Given the description of an element on the screen output the (x, y) to click on. 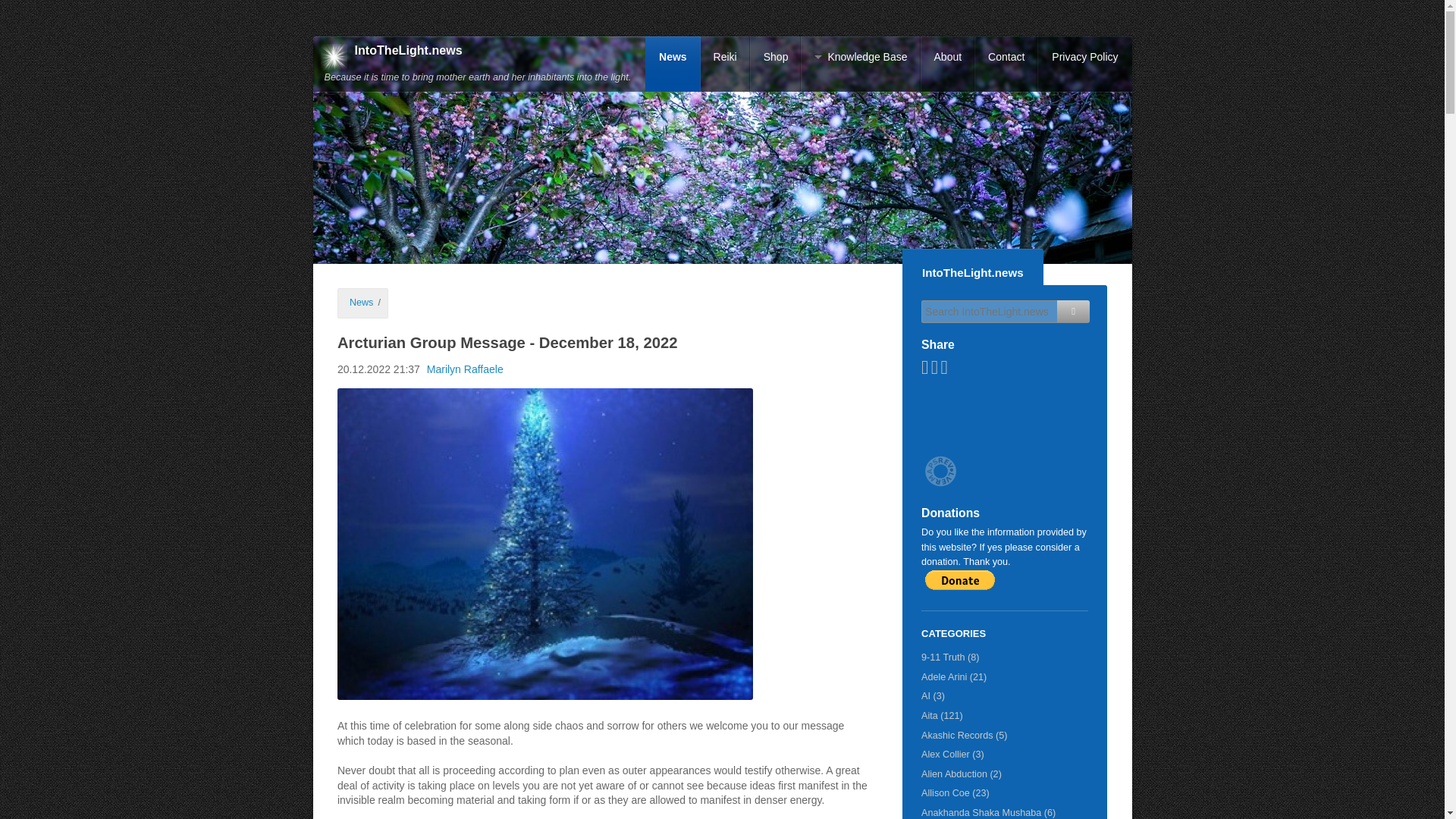
News (672, 63)
Reiki (725, 63)
IntoTheLight.news (409, 50)
PayPal - The safer, easier way to pay online! (959, 579)
Shop (775, 63)
Knowledge Base (860, 63)
